Given the description of an element on the screen output the (x, y) to click on. 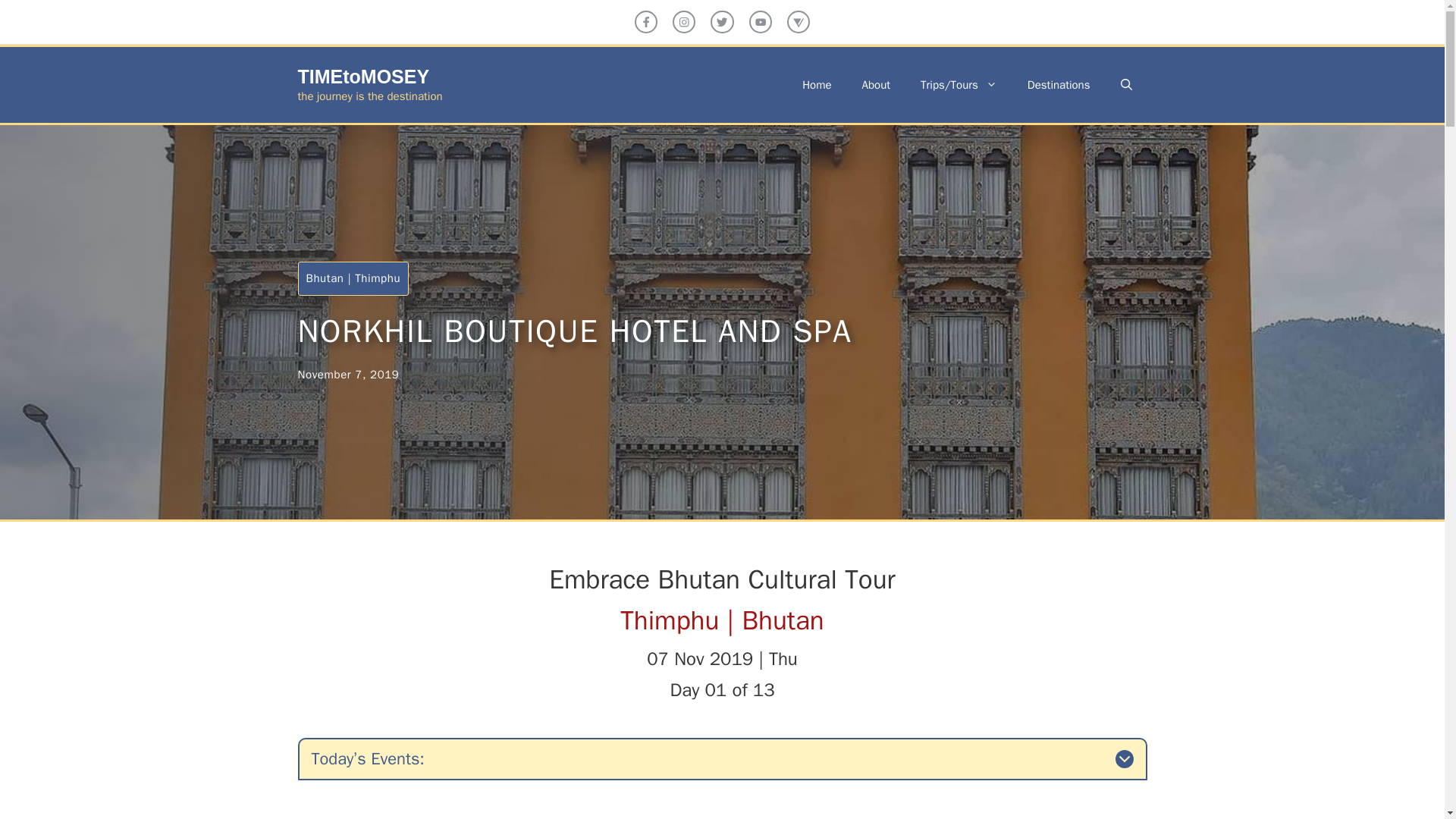
Destinations (1058, 84)
About (876, 84)
Bhutan (324, 278)
Home (816, 84)
Thimphu (377, 278)
TIMEtoMOSEY (363, 76)
